Given the description of an element on the screen output the (x, y) to click on. 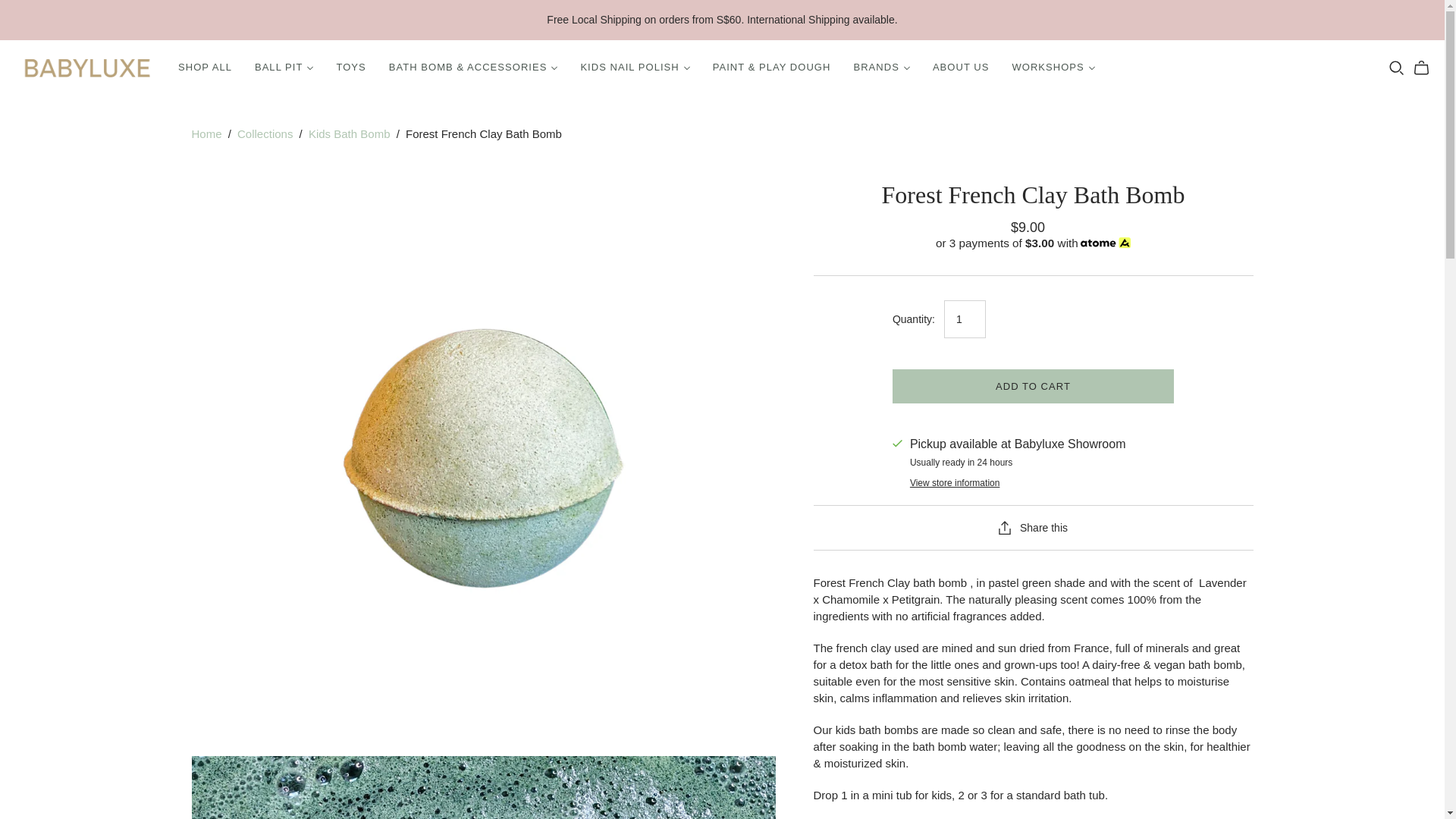
BALL PIT (283, 67)
BRANDS (880, 67)
TOYS (350, 67)
1 (964, 319)
ABOUT US (961, 67)
KIDS NAIL POLISH (634, 67)
SHOP ALL (205, 67)
WORKSHOPS (1052, 67)
